Given the description of an element on the screen output the (x, y) to click on. 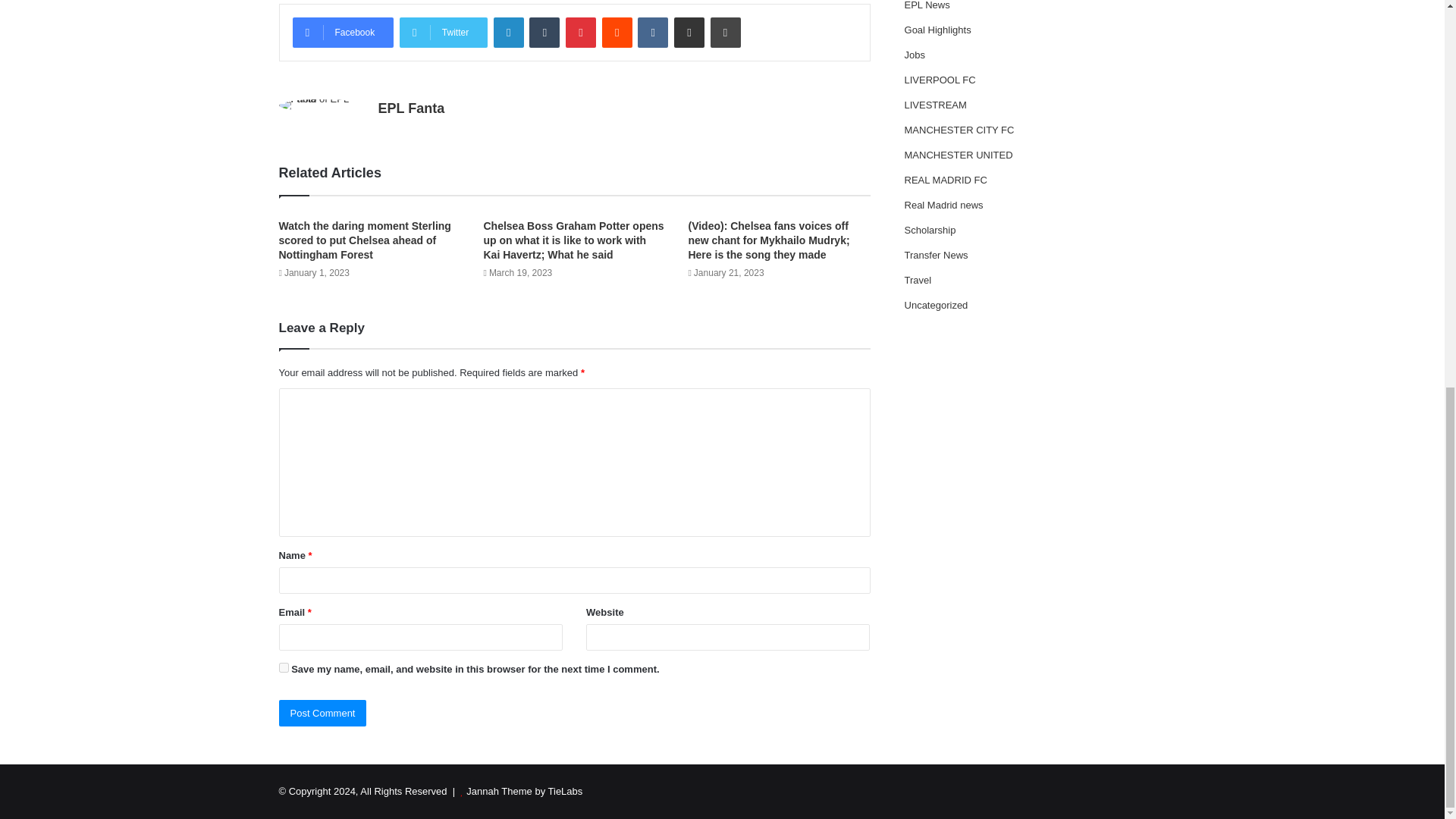
LinkedIn (508, 32)
VKontakte (652, 32)
Twitter (442, 32)
Reddit (616, 32)
Print (725, 32)
Facebook (343, 32)
Share via Email (689, 32)
Facebook (343, 32)
Post Comment (322, 713)
LinkedIn (508, 32)
Reddit (616, 32)
Pinterest (580, 32)
yes (283, 667)
